Given the description of an element on the screen output the (x, y) to click on. 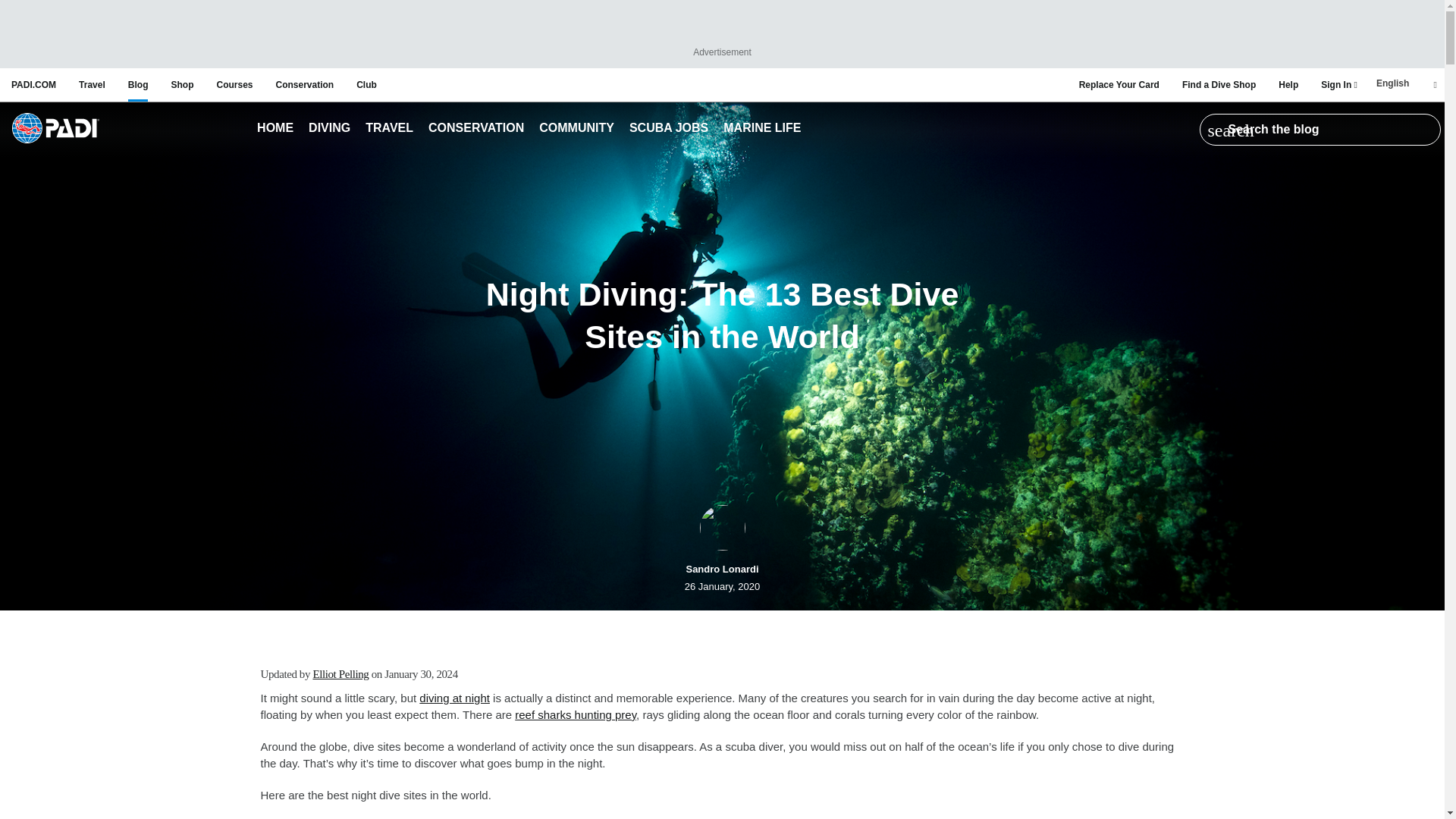
Home (275, 128)
TRAVEL (389, 128)
COMMUNITY (576, 128)
Marine Life (762, 128)
Community (576, 128)
PADI.COM (33, 84)
Scuba Jobs (668, 128)
Find a Dive Shop (1218, 84)
HOME (275, 128)
Diving (329, 128)
